Given the description of an element on the screen output the (x, y) to click on. 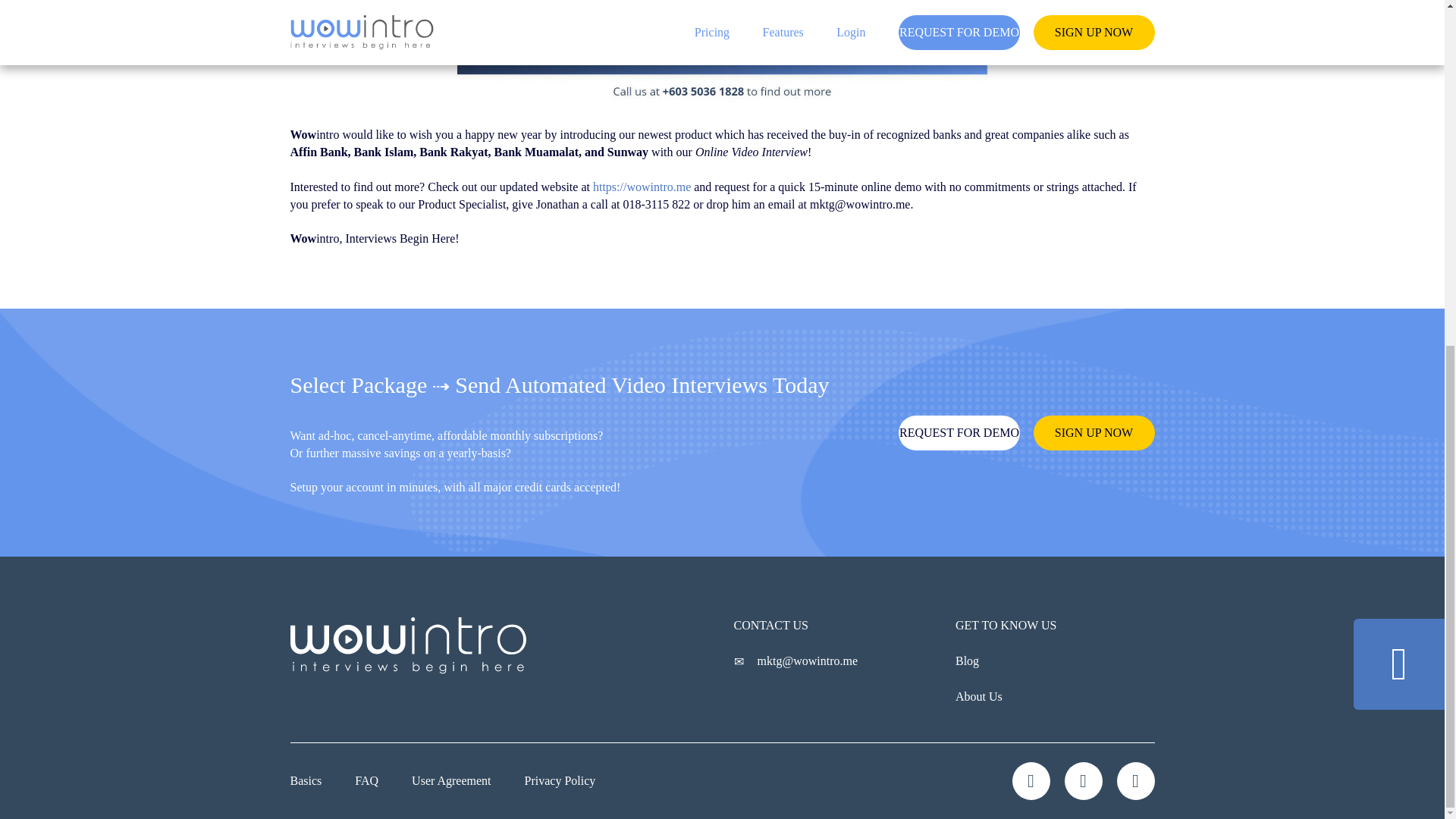
Blog (966, 661)
User Agreement (451, 781)
Basics (305, 781)
Privacy Policy (559, 781)
REQUEST FOR DEMO (959, 432)
FAQ (366, 781)
SIGN UP NOW (1093, 432)
About Us (979, 696)
